Given the description of an element on the screen output the (x, y) to click on. 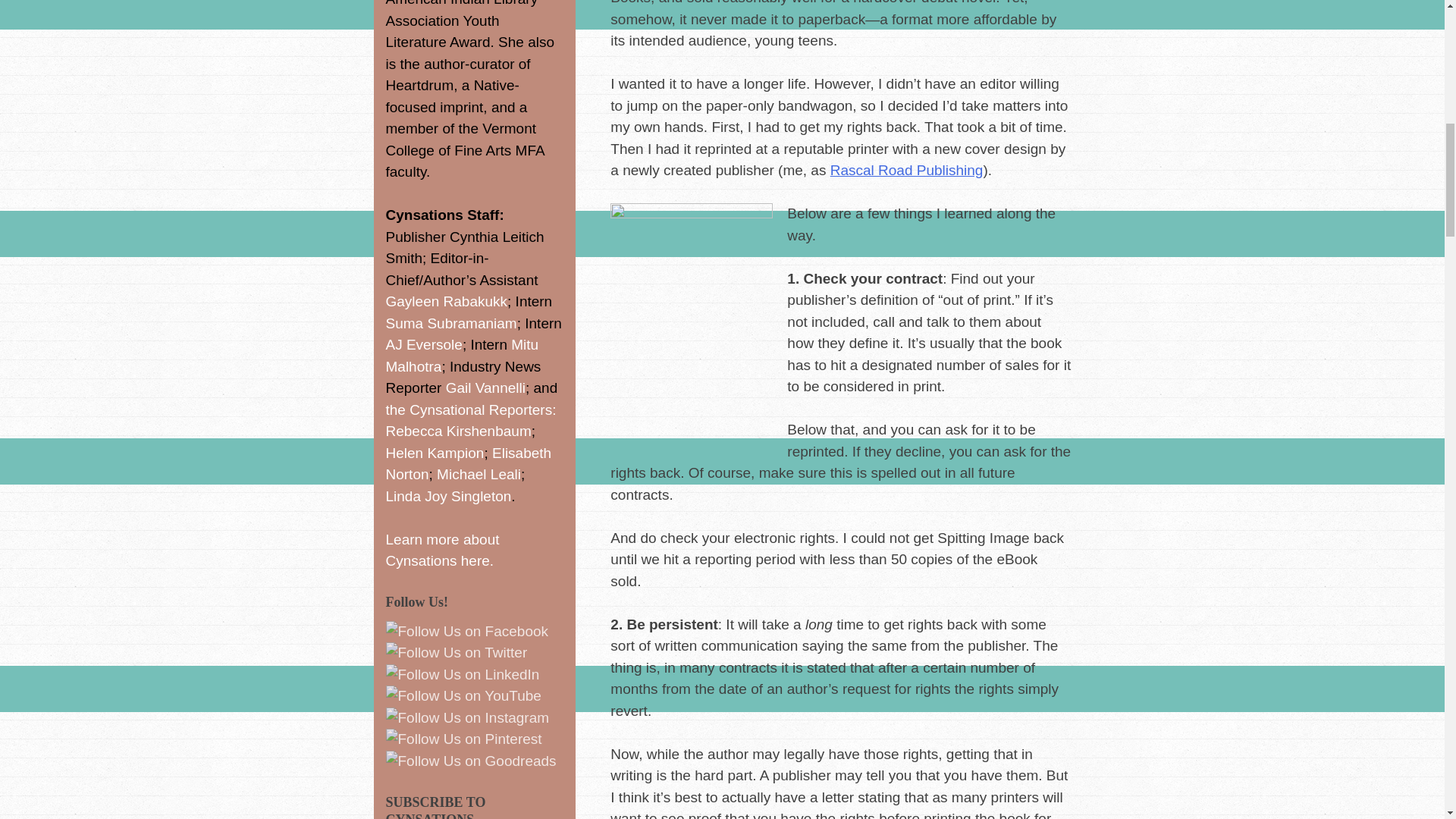
Follow Us on Facebook (466, 631)
Follow Us on Pinterest (463, 739)
Follow Us on Twitter (456, 653)
Follow Us on Instagram (466, 718)
Follow Us on YouTube (462, 696)
Follow Us on LinkedIn (461, 675)
Rascal Road Publishing (906, 170)
Follow Us on Goodreads (470, 762)
